Given the description of an element on the screen output the (x, y) to click on. 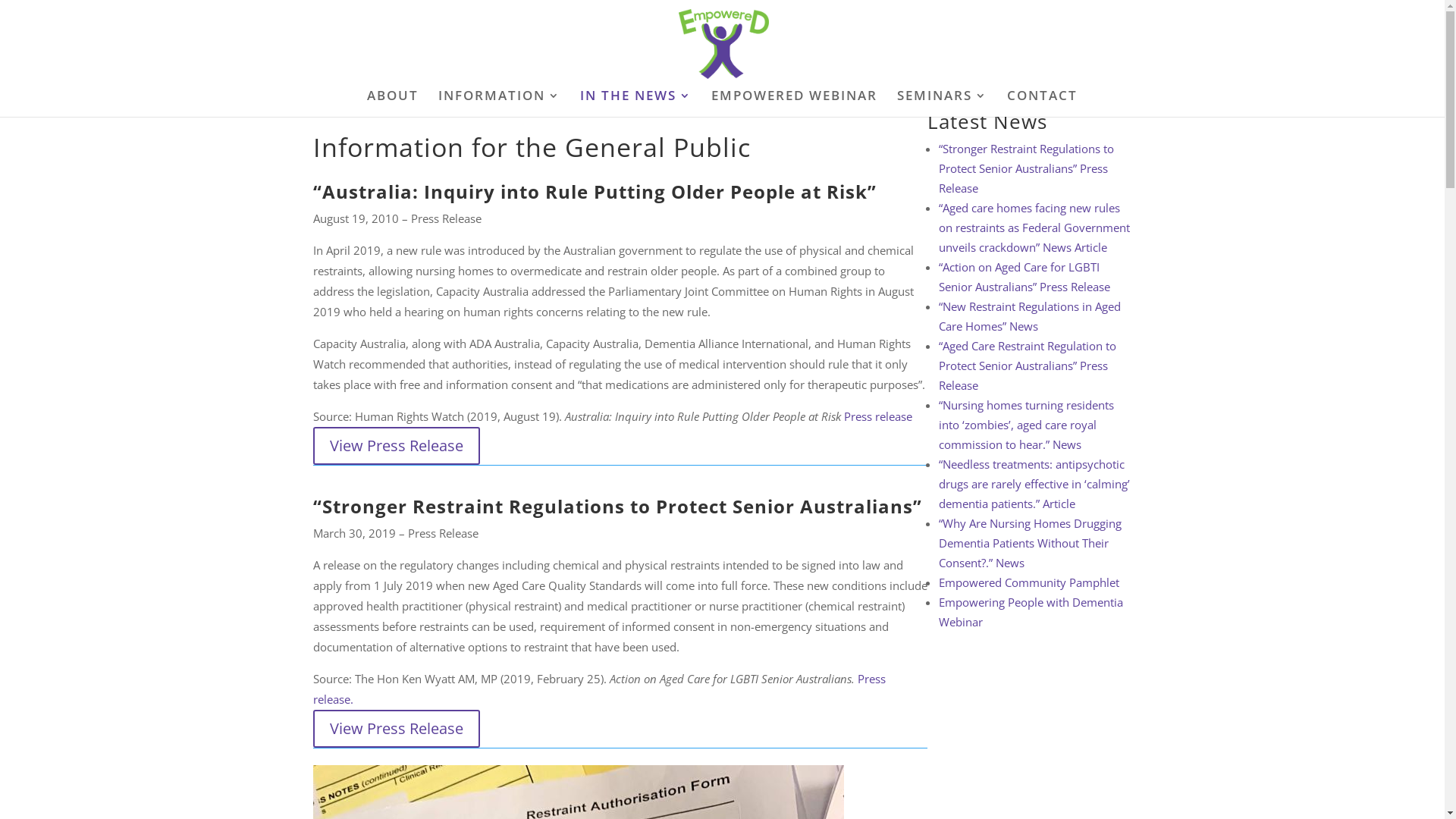
Empowered Community Pamphlet Element type: text (1028, 581)
EMPOWERED WEBINAR Element type: text (794, 103)
View Press Release Element type: text (395, 728)
SEMINARS Element type: text (942, 103)
ABOUT Element type: text (392, 103)
CONTACT Element type: text (1042, 103)
Empowering People with Dementia Webinar Element type: text (1030, 611)
INFORMATION Element type: text (499, 103)
Press release Element type: text (877, 415)
. Element type: text (351, 698)
IN THE NEWS Element type: text (635, 103)
Press release Element type: text (598, 688)
View Press Release Element type: text (395, 445)
